Given the description of an element on the screen output the (x, y) to click on. 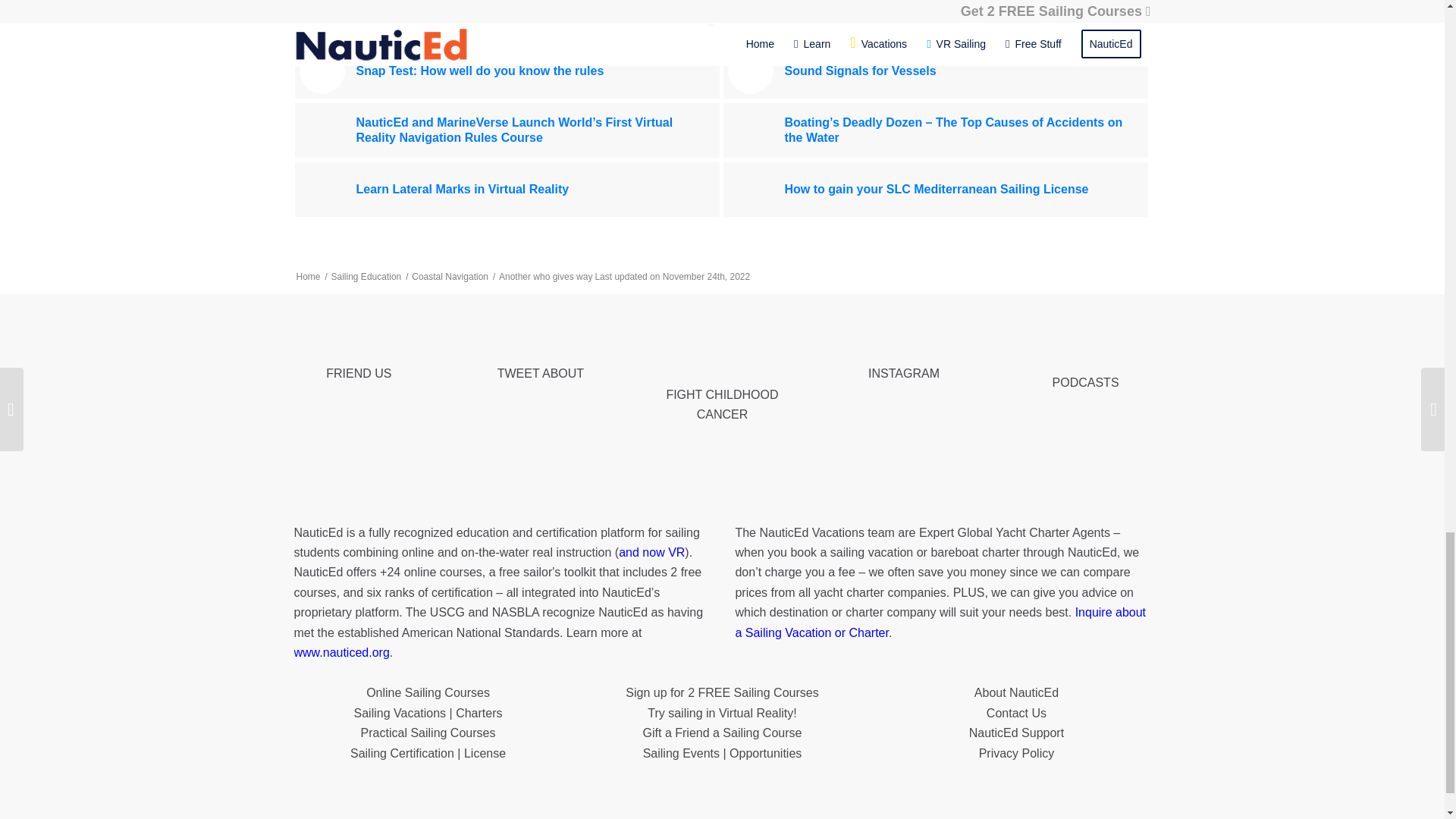
Snap Test: How well do you know the rules (507, 71)
NauticEd-VR-Navigation-Rules-Course-featured (320, 130)
Sound Signals for Vessels (935, 71)
